Given the description of an element on the screen output the (x, y) to click on. 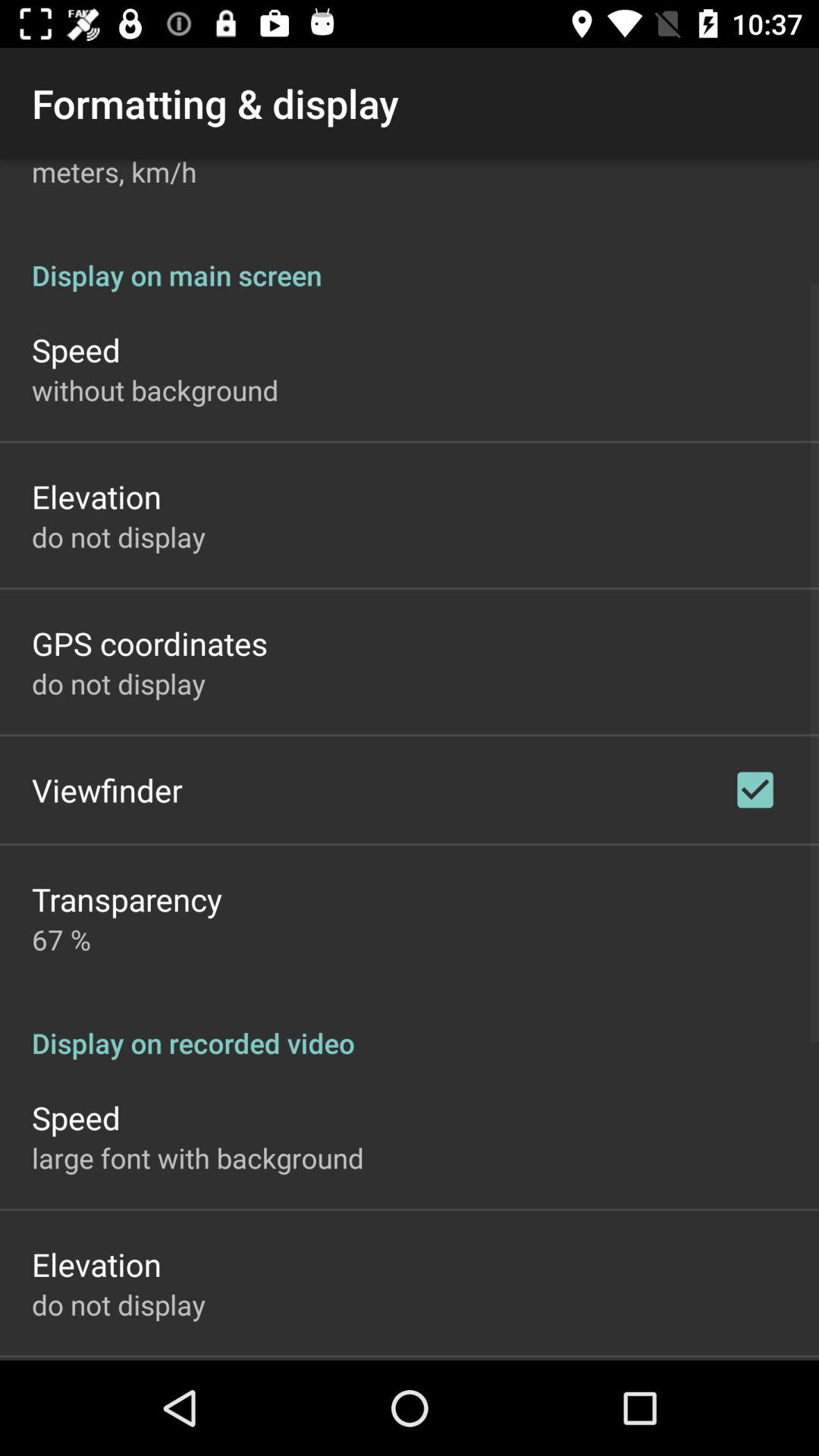
open meters, km/h item (113, 174)
